Given the description of an element on the screen output the (x, y) to click on. 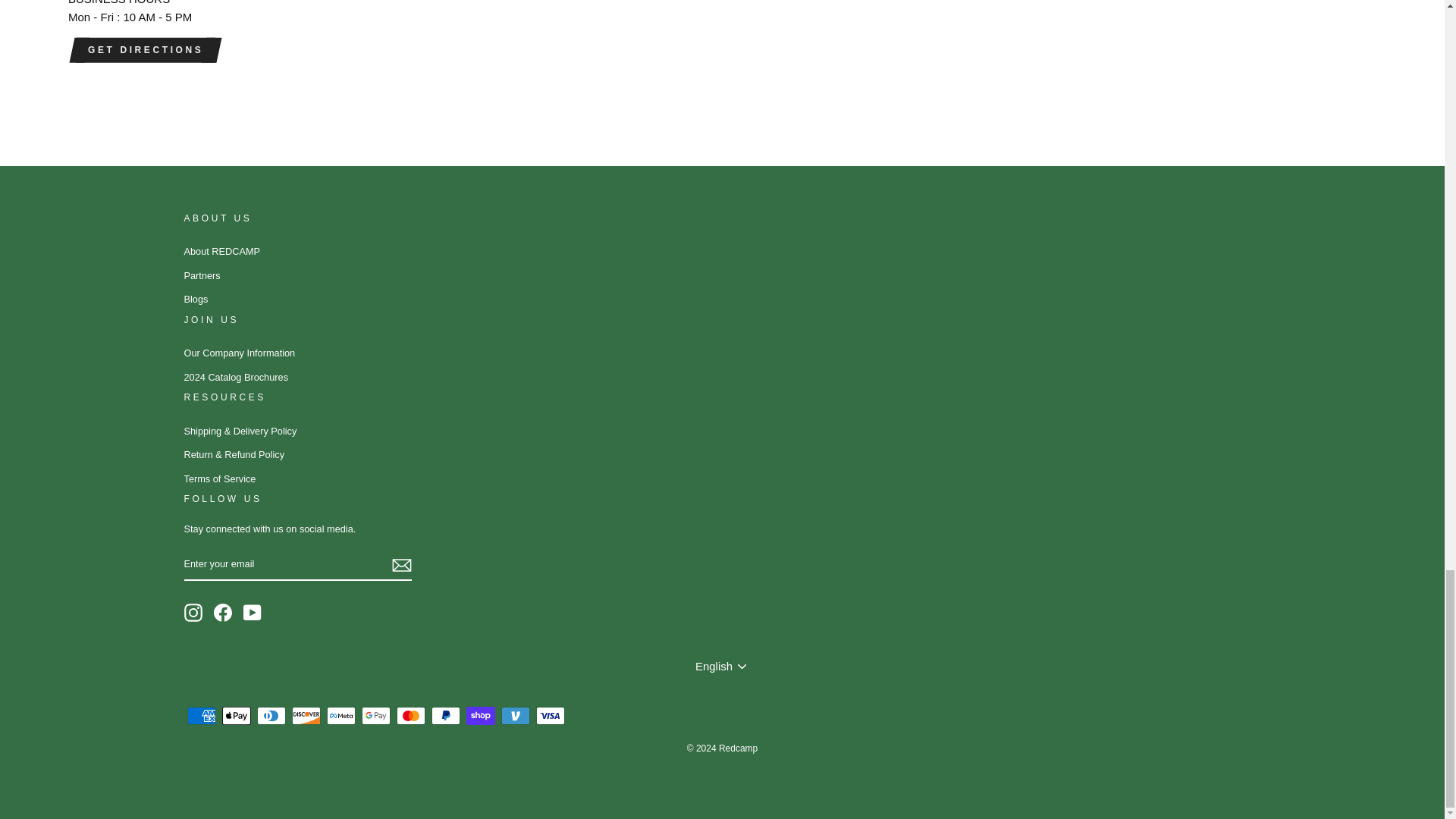
Redcamp on YouTube (251, 612)
Discover (305, 715)
Diners Club (270, 715)
Redcamp on Facebook (222, 612)
American Express (200, 715)
Apple Pay (235, 715)
Google Pay (375, 715)
Meta Pay (340, 715)
Redcamp on Instagram (192, 612)
